Given the description of an element on the screen output the (x, y) to click on. 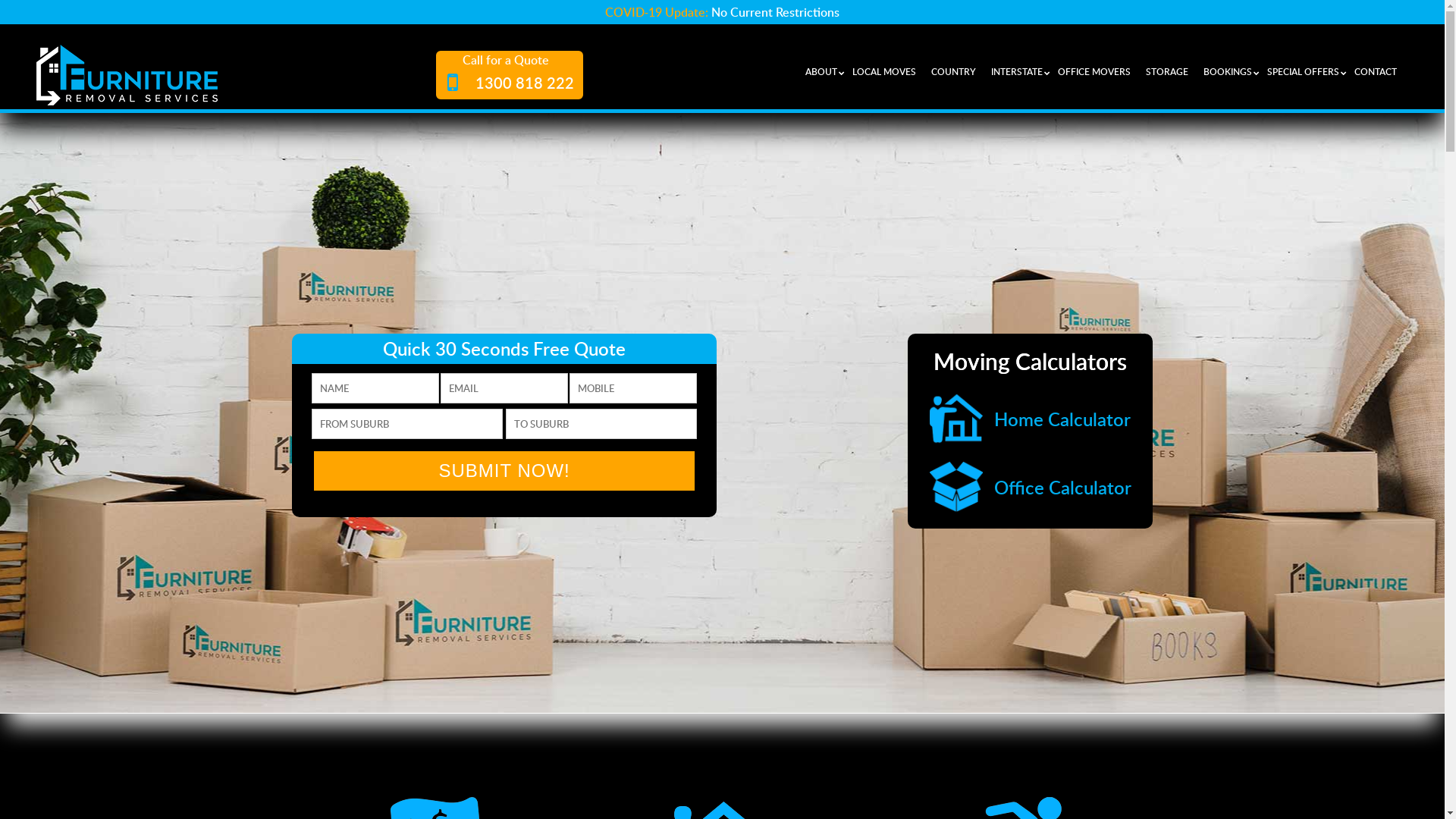
LOCAL MOVES Element type: text (887, 71)
Office Calculator Element type: text (1030, 486)
BOOKINGS Element type: text (1231, 71)
COUNTRY Element type: text (957, 71)
STORAGE Element type: text (1170, 71)
1300 818 222 Element type: text (505, 80)
ABOUT Element type: text (824, 71)
CONTACT Element type: text (1379, 71)
SUBMIT NOW! Element type: text (504, 470)
Home Calculator Element type: text (1030, 418)
INTERSTATE Element type: text (1020, 71)
OFFICE MOVERS Element type: text (1098, 71)
SPECIAL OFFERS Element type: text (1306, 71)
